Given the description of an element on the screen output the (x, y) to click on. 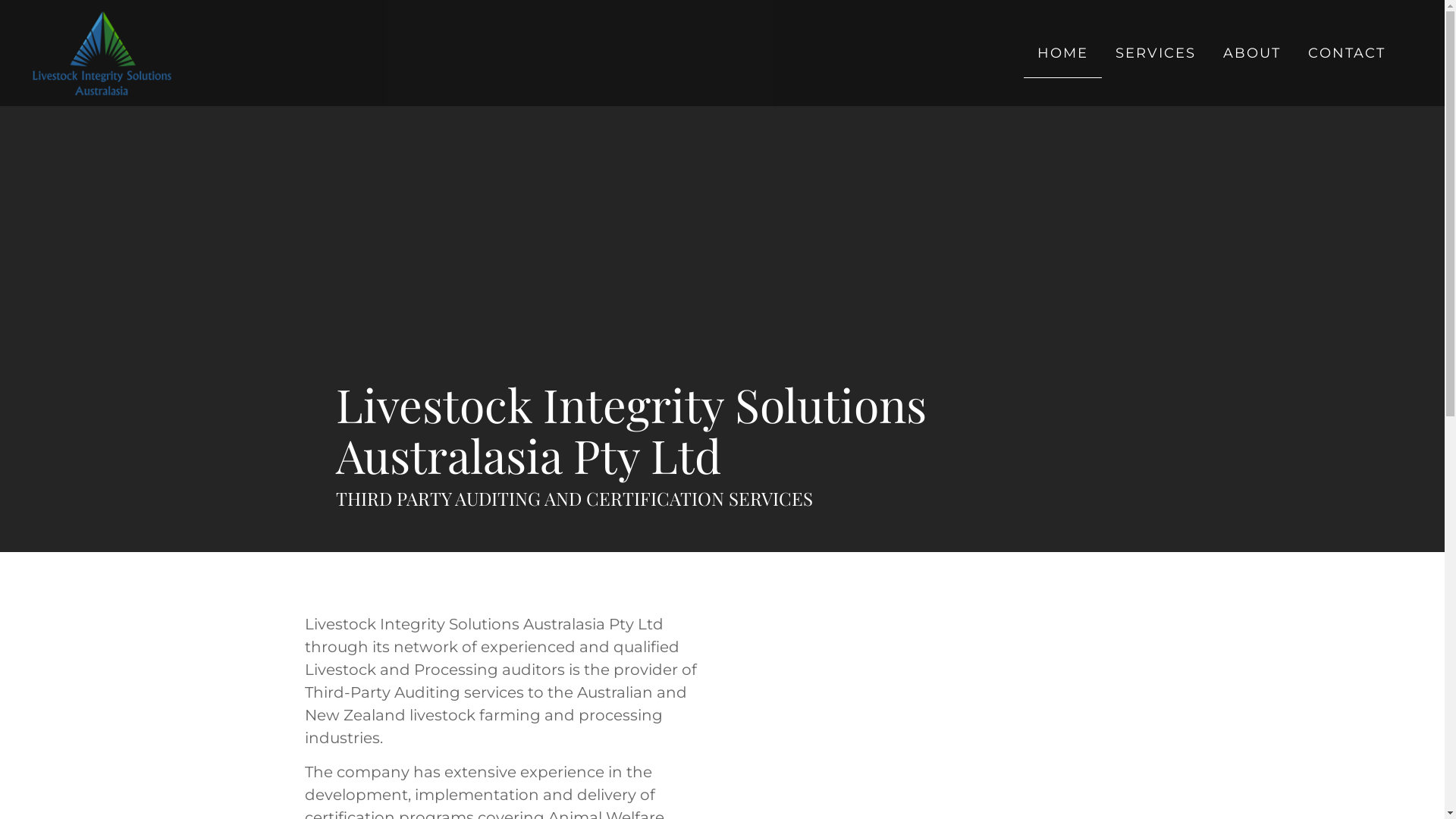
HOME Element type: text (1062, 53)
ABOUT Element type: text (1251, 52)
CONTACT Element type: text (1346, 52)
SERVICES Element type: text (1155, 52)
LIVESTOCK INTEGRITY SOLUTIONS AUSTRALASIA PTY LTD Element type: text (307, 117)
